Given the description of an element on the screen output the (x, y) to click on. 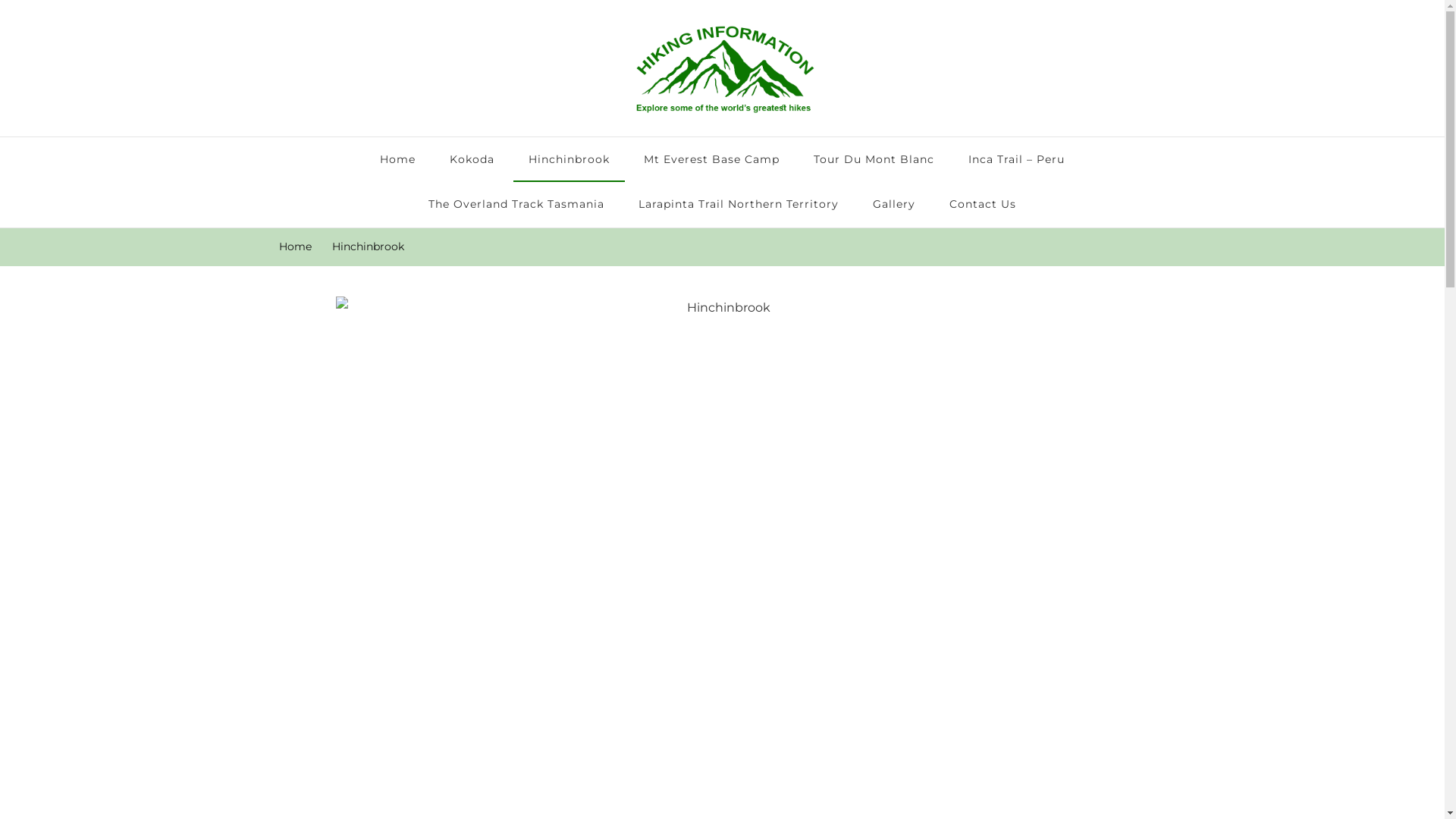
Hinchinbrook Element type: text (568, 159)
Gallery Element type: text (893, 204)
Contact Us Element type: text (982, 204)
Home Element type: text (397, 159)
Hinchinbrook Element type: text (368, 246)
Kokoda Element type: text (471, 159)
Home Element type: text (295, 246)
The Overland Track Tasmania Element type: text (516, 204)
Mt Everest Base Camp Element type: text (711, 159)
Tour Du Mont Blanc Element type: text (873, 159)
Larapinta Trail Northern Territory Element type: text (738, 204)
